Given the description of an element on the screen output the (x, y) to click on. 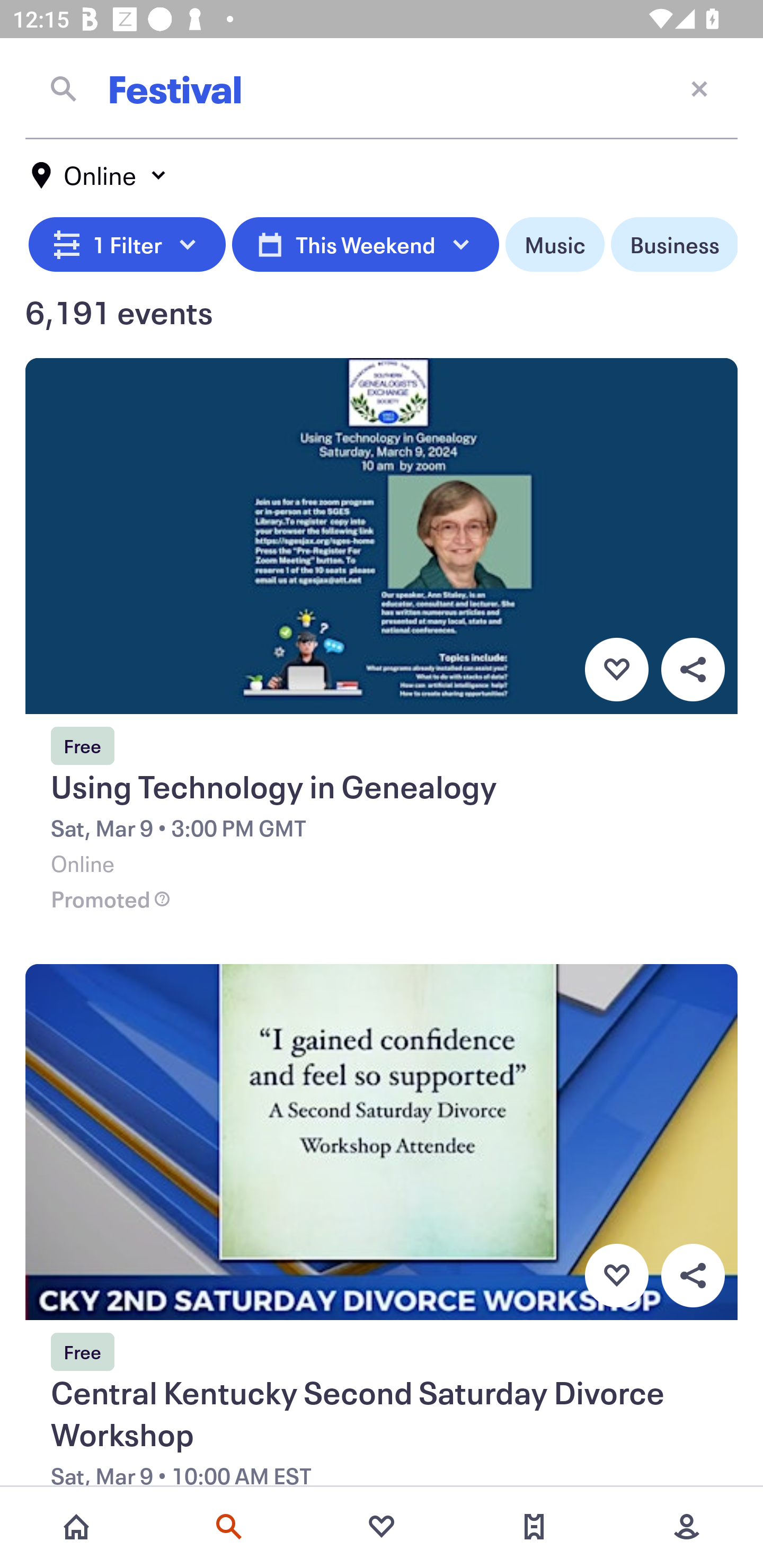
Festival Close current screen (381, 88)
Close current screen (699, 88)
Online (99, 175)
1 Filter (126, 244)
This Weekend (365, 244)
Music (554, 244)
Business (674, 244)
Favorite button (616, 669)
Overflow menu button (692, 669)
Favorite button (616, 1275)
Overflow menu button (692, 1275)
Home (76, 1526)
Search events (228, 1526)
Favorites (381, 1526)
Tickets (533, 1526)
More (686, 1526)
